Given the description of an element on the screen output the (x, y) to click on. 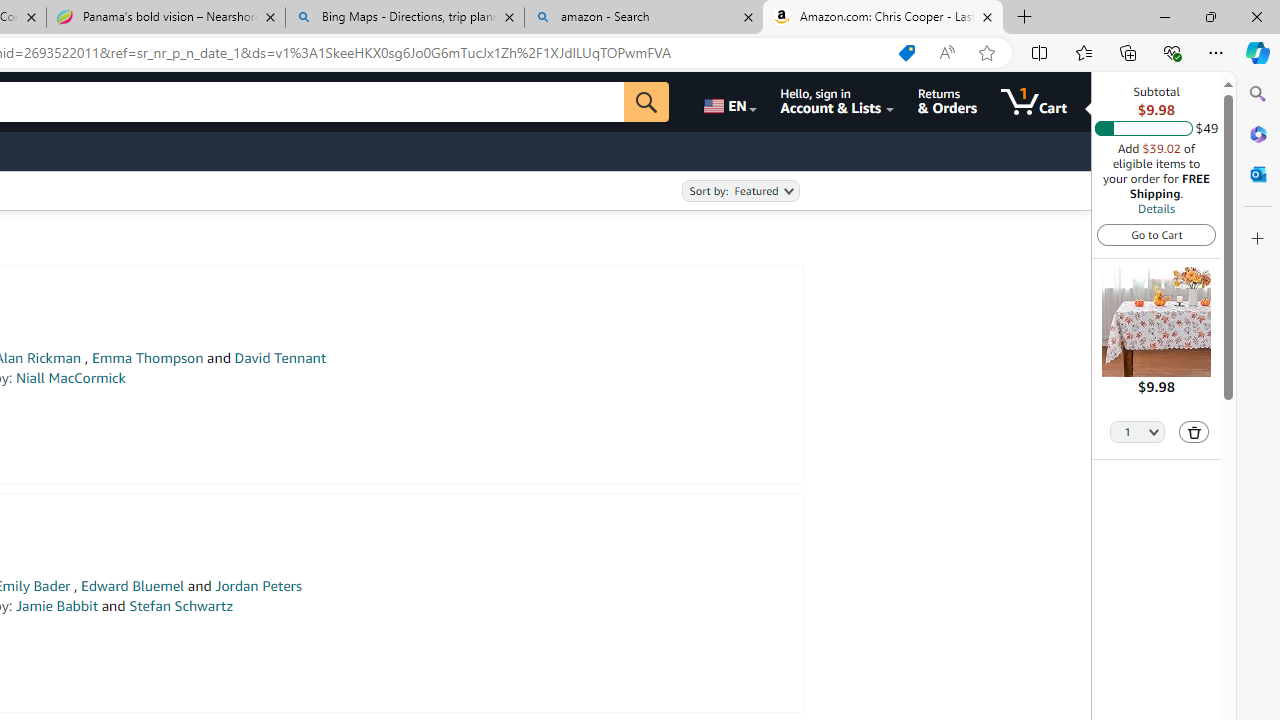
Jordan Peters (258, 586)
Delete (1193, 431)
David Tennant (280, 358)
Niall MacCormick (70, 378)
Delete (1194, 431)
Choose a language for shopping. (728, 101)
Go to Cart (1156, 234)
